Given the description of an element on the screen output the (x, y) to click on. 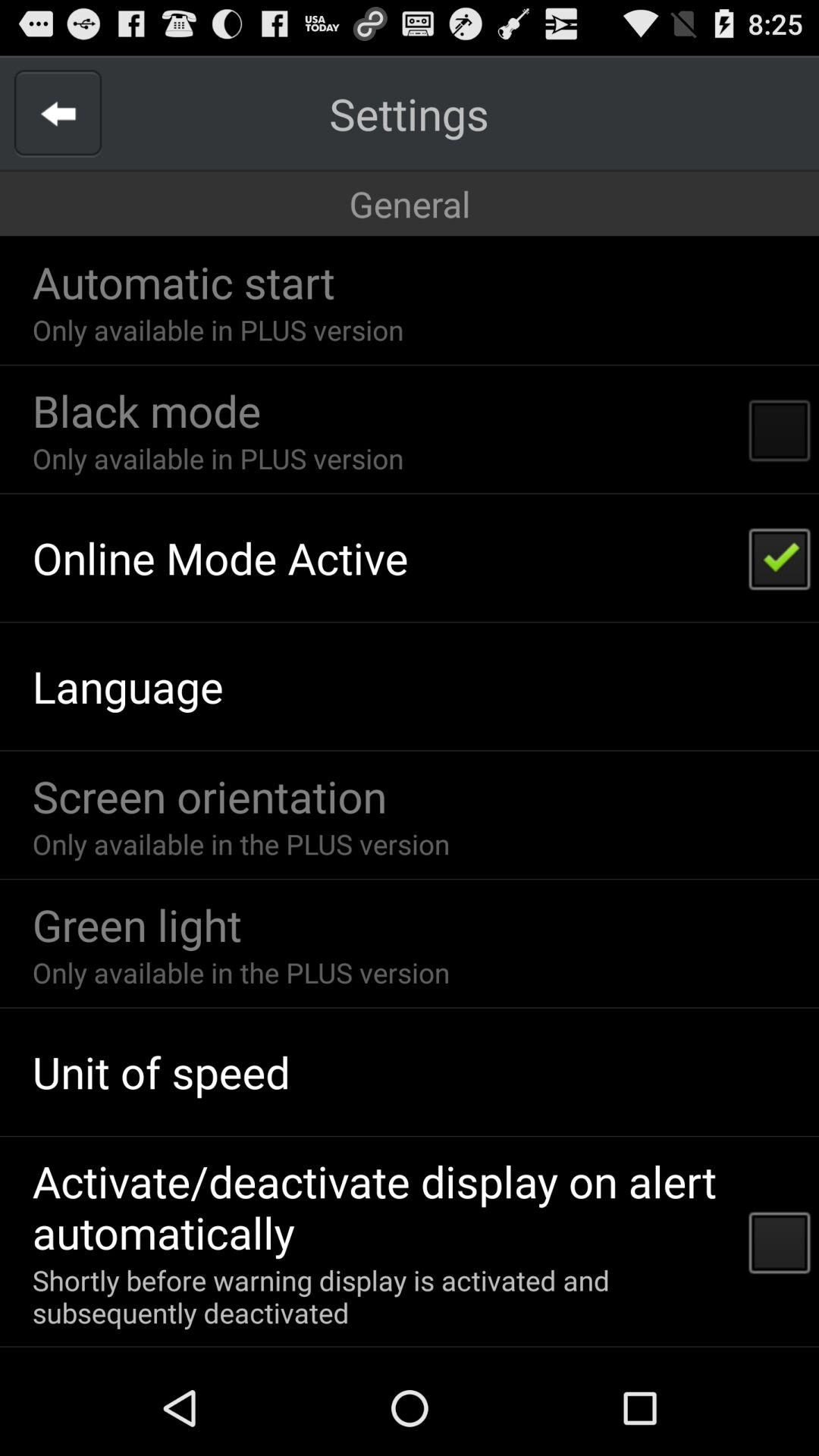
open the item above the general icon (57, 113)
